Given the description of an element on the screen output the (x, y) to click on. 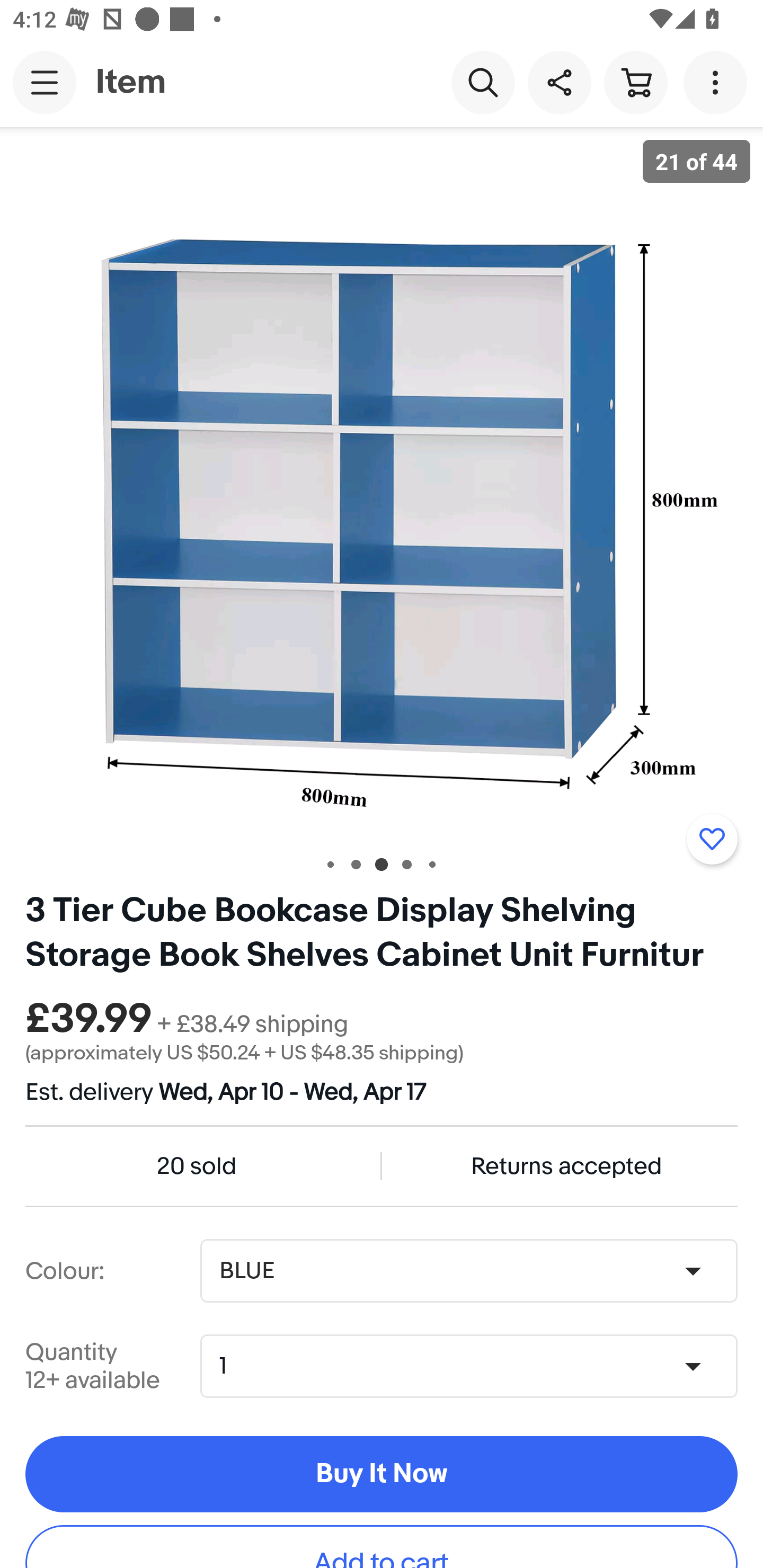
Main navigation, open (44, 82)
Search (482, 81)
Share this item (559, 81)
Cart button shopping cart (635, 81)
More options (718, 81)
Item image 21 of 44 (381, 482)
Add to watchlist (711, 838)
Colour:,BLUE BLUE (468, 1270)
Quantity,1,12+ available 1 (474, 1365)
Buy It Now (381, 1474)
Add to cart (381, 1546)
